Given the description of an element on the screen output the (x, y) to click on. 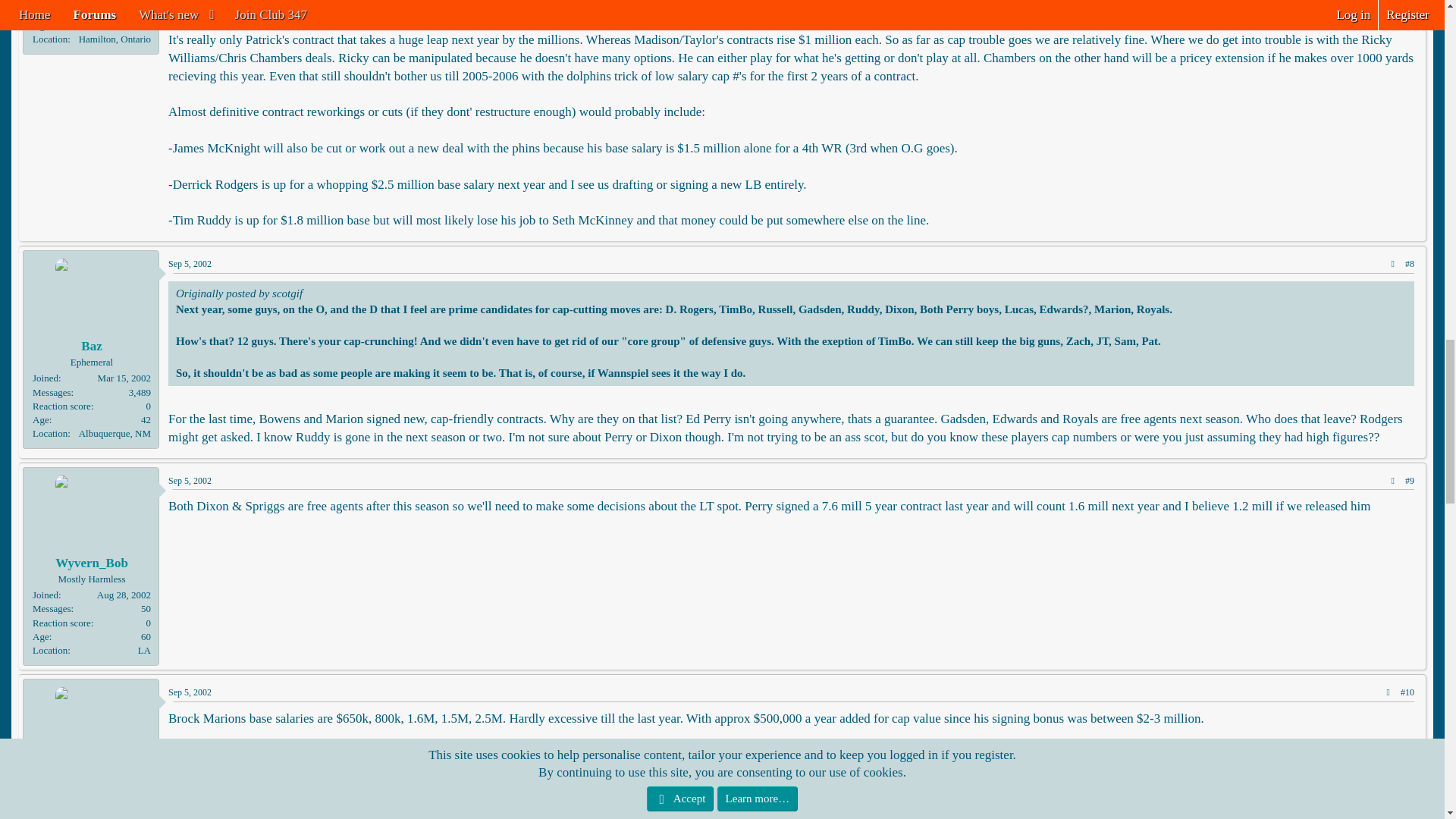
Sep 5, 2002 at 6:34 PM (189, 480)
Sep 5, 2002 at 6:56 PM (189, 692)
Sep 5, 2002 at 3:33 PM (189, 263)
